Given the description of an element on the screen output the (x, y) to click on. 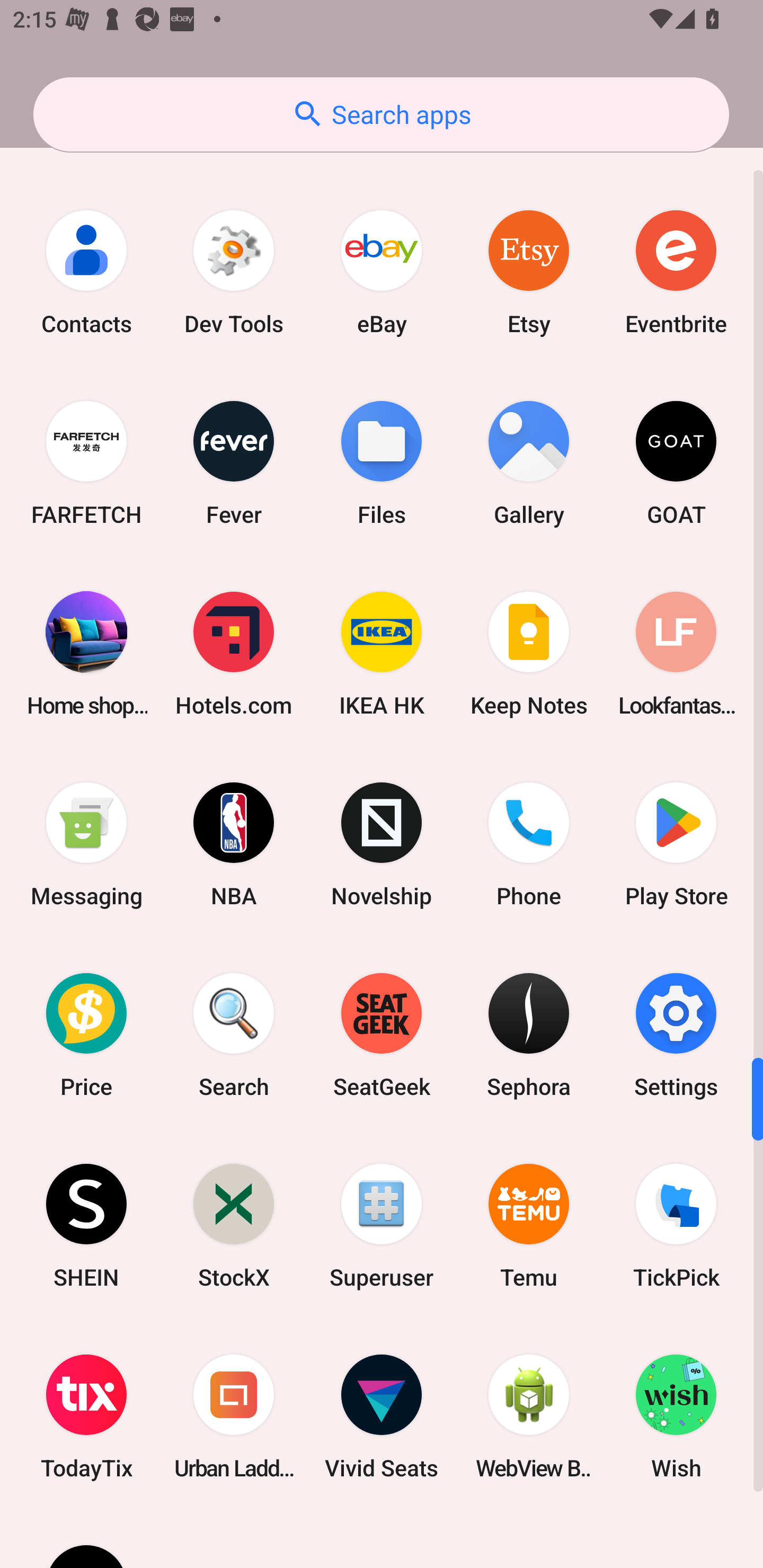
  Search apps (381, 114)
Contacts (86, 271)
Dev Tools (233, 271)
eBay (381, 271)
Etsy (528, 271)
Eventbrite (676, 271)
FARFETCH (86, 462)
Fever (233, 462)
Files (381, 462)
Gallery (528, 462)
GOAT (676, 462)
Home shopping (86, 653)
Hotels.com (233, 653)
IKEA HK (381, 653)
Keep Notes (528, 653)
Lookfantastic (676, 653)
Messaging (86, 844)
NBA (233, 844)
Novelship (381, 844)
Phone (528, 844)
Play Store (676, 844)
Price (86, 1034)
Search (233, 1034)
SeatGeek (381, 1034)
Sephora (528, 1034)
Settings (676, 1034)
SHEIN (86, 1225)
StockX (233, 1225)
Superuser (381, 1225)
Temu (528, 1225)
TickPick (676, 1225)
TodayTix (86, 1416)
Urban Ladder (233, 1416)
Vivid Seats (381, 1416)
WebView Browser Tester (528, 1416)
Wish (676, 1416)
